Given the description of an element on the screen output the (x, y) to click on. 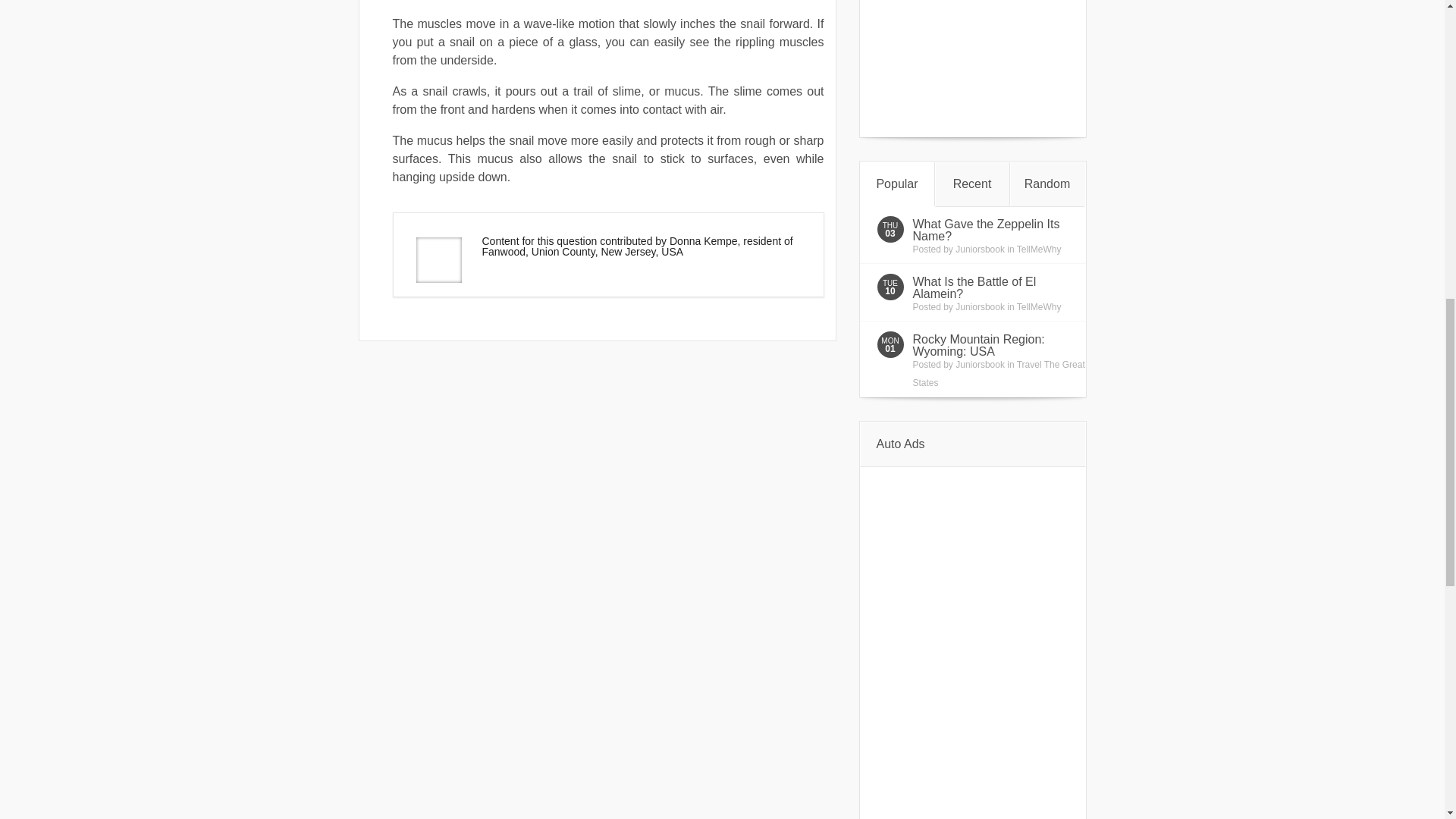
Posts by Juniorsbook (979, 364)
Posts by Juniorsbook (979, 249)
Posts by Juniorsbook (979, 307)
